Given the description of an element on the screen output the (x, y) to click on. 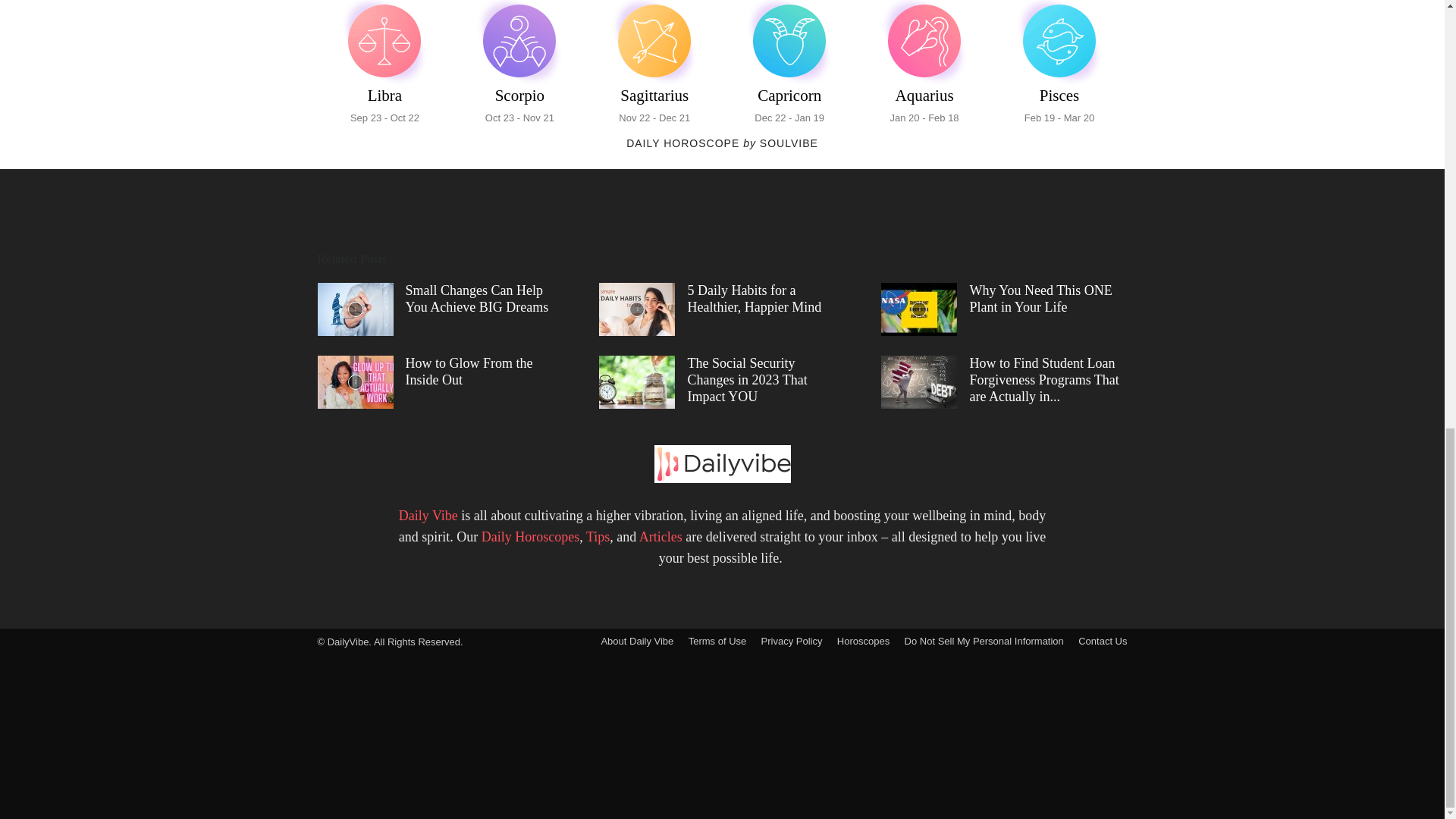
DAILY HOROSCOPE by (384, 64)
